Given the description of an element on the screen output the (x, y) to click on. 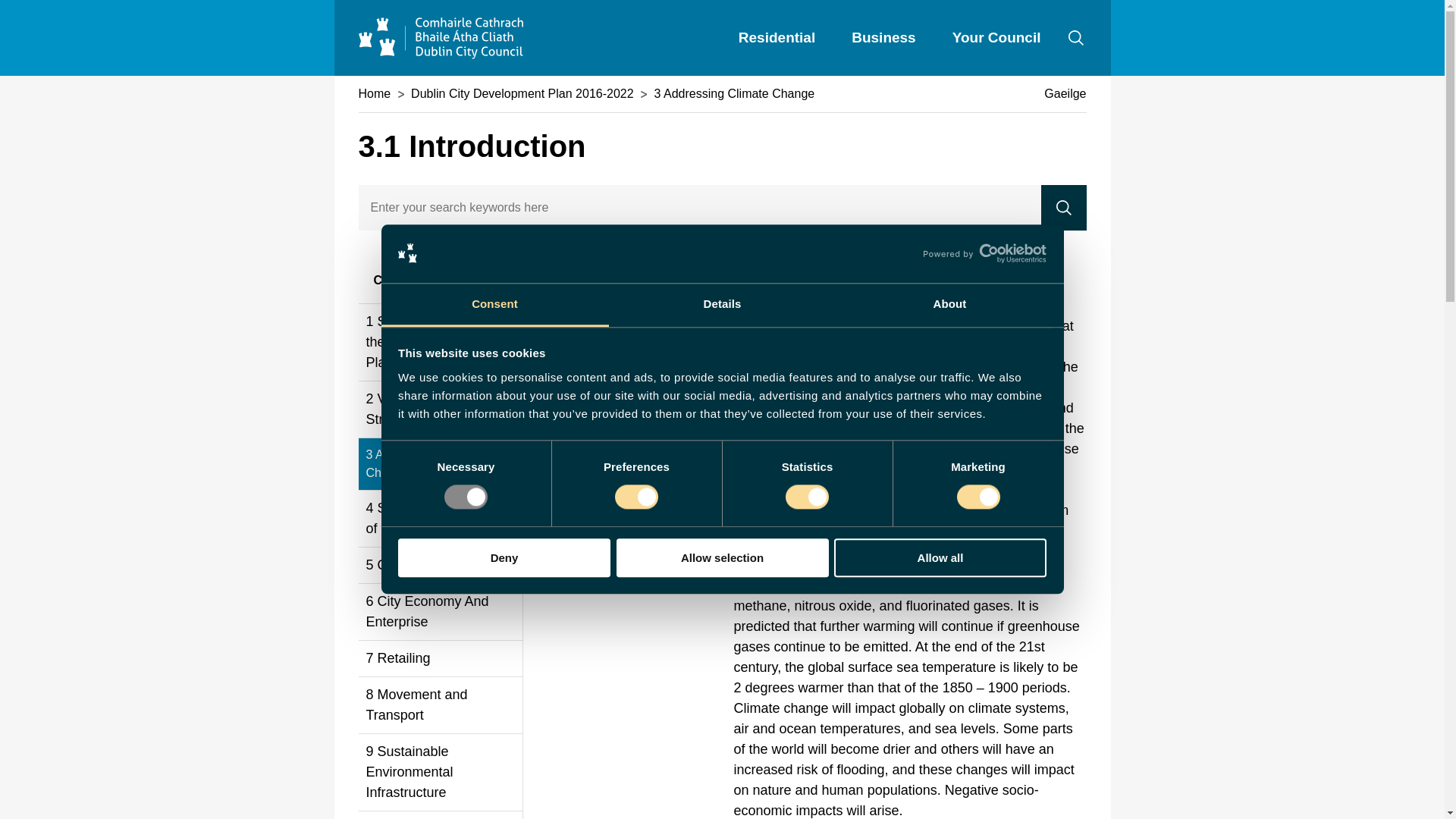
Details (721, 304)
Consent (494, 304)
About (948, 304)
Search (1063, 207)
Search (1063, 207)
